Given the description of an element on the screen output the (x, y) to click on. 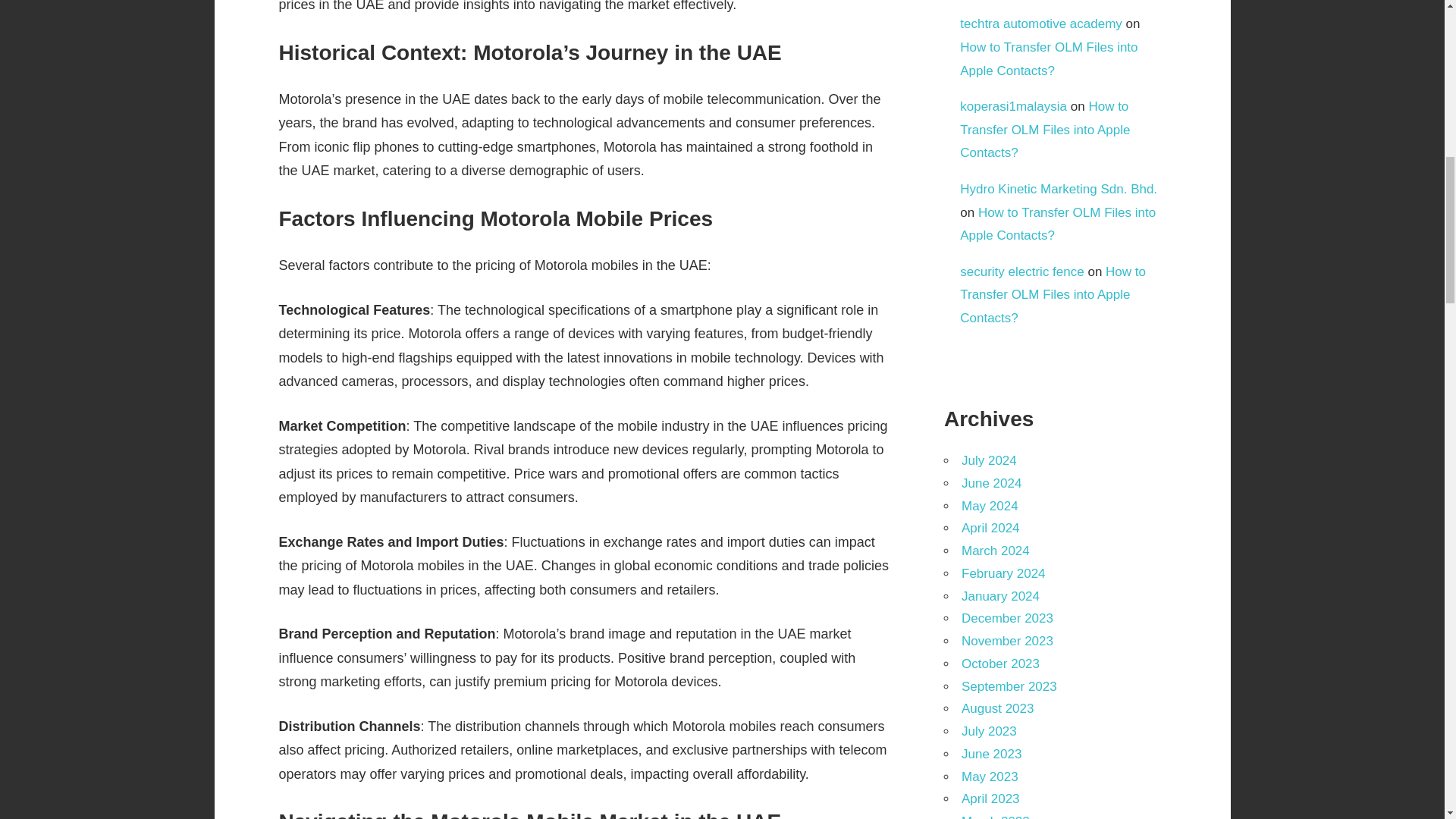
Hydro Kinetic Marketing Sdn. Bhd. (1058, 188)
How to Transfer OLM Files into Apple Contacts? (1052, 294)
techtra automotive academy (1040, 23)
How to Transfer OLM Files into Apple Contacts? (1044, 129)
How to Transfer OLM Files into Apple Contacts? (1057, 224)
koperasi1malaysia (1013, 106)
security electric fence (1021, 271)
How to Transfer OLM Files into Apple Contacts? (1048, 58)
